Given the description of an element on the screen output the (x, y) to click on. 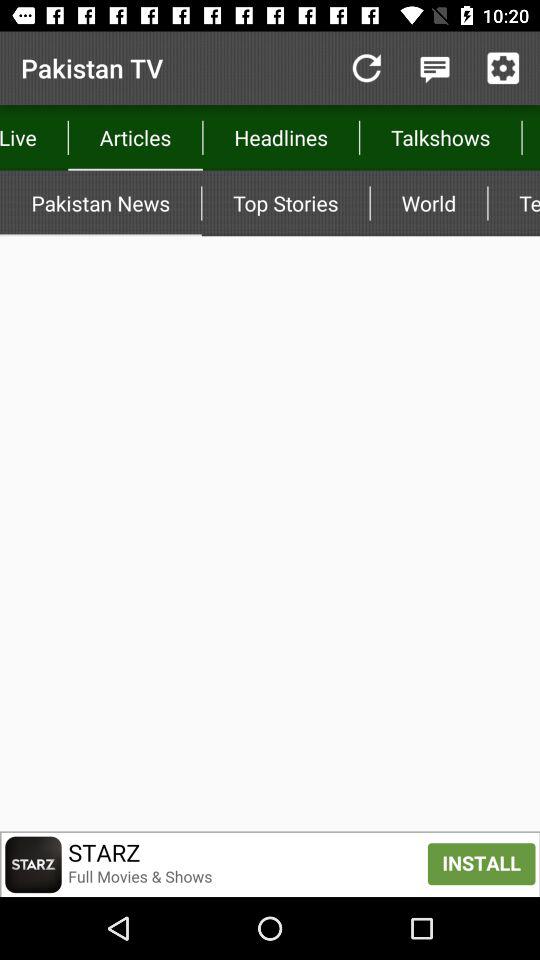
flip until top stories (285, 203)
